Given the description of an element on the screen output the (x, y) to click on. 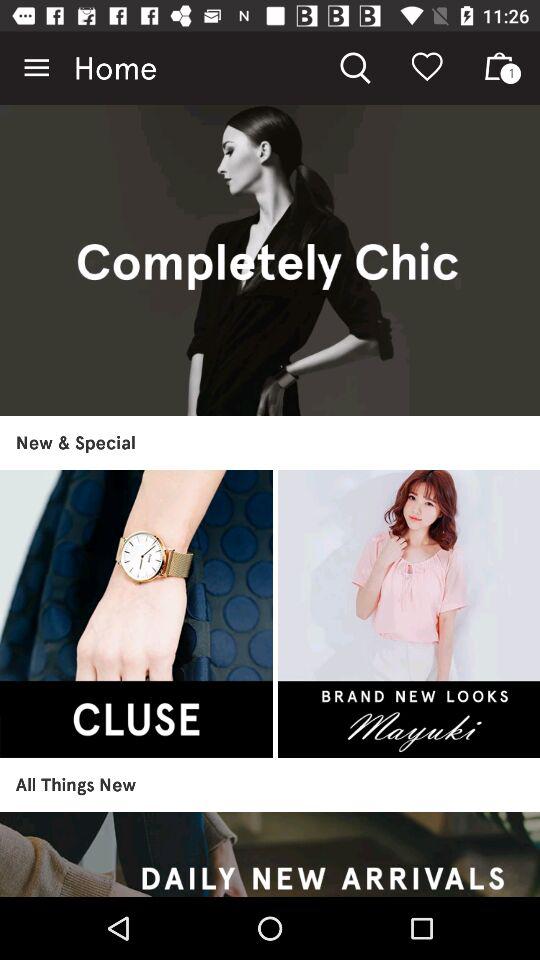
launch item next to the home (36, 68)
